Given the description of an element on the screen output the (x, y) to click on. 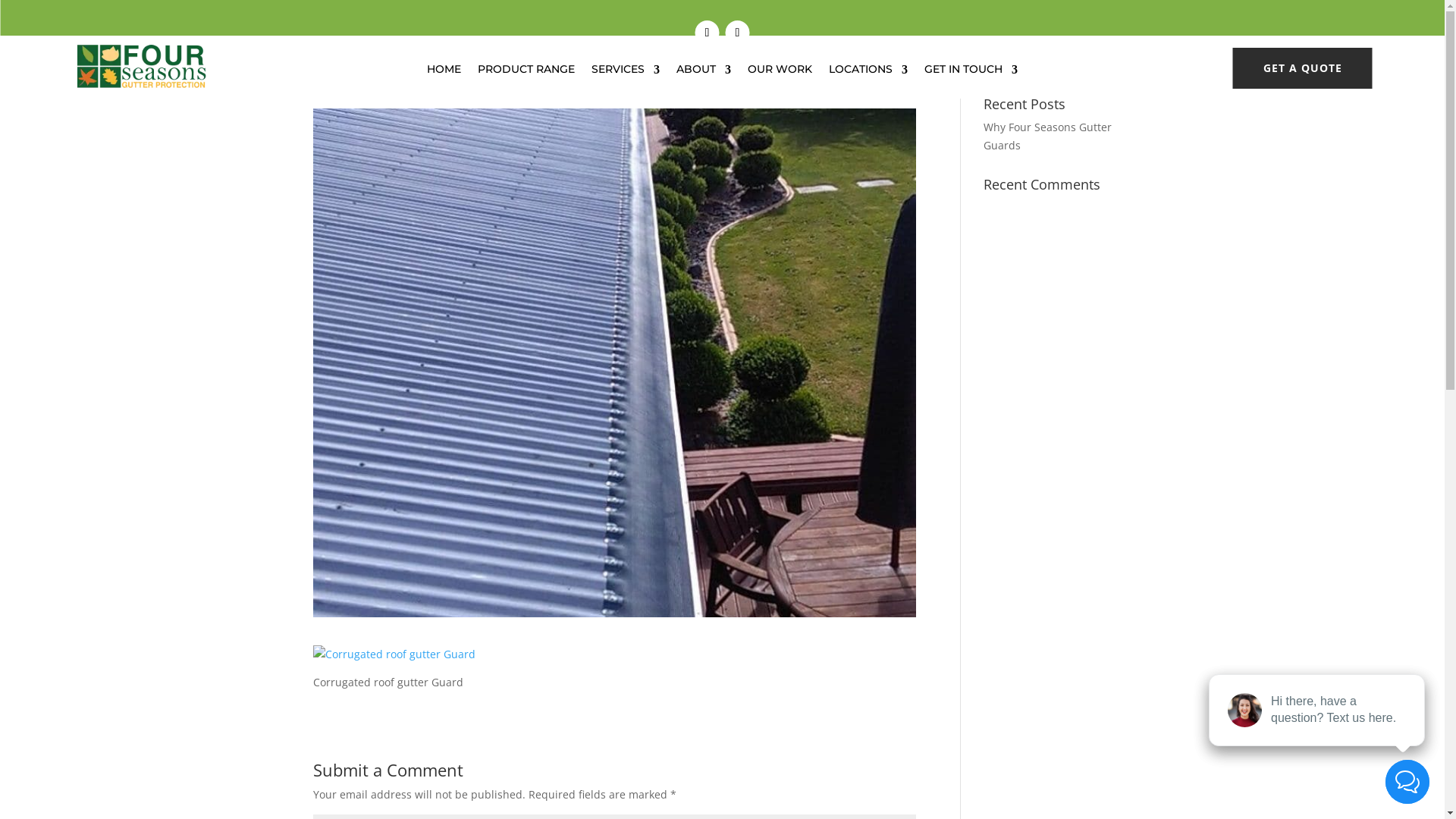
HOME Element type: text (443, 72)
GET IN TOUCH Element type: text (970, 72)
PRODUCT RANGE Element type: text (525, 72)
four seasons gutter protection Logo Element type: hover (141, 66)
Why Four Seasons Gutter Guards Element type: text (1047, 135)
Search Element type: text (1106, 58)
LOCATIONS Element type: text (867, 72)
OUR WORK Element type: text (779, 72)
GET A QUOTE Element type: text (1302, 67)
Follow on Instagram Element type: hover (736, 32)
0 comments Element type: text (475, 82)
ABOUT Element type: text (703, 72)
SERVICES Element type: text (625, 72)
Admin Element type: text (343, 82)
Follow on Facebook Element type: hover (706, 32)
